Given the description of an element on the screen output the (x, y) to click on. 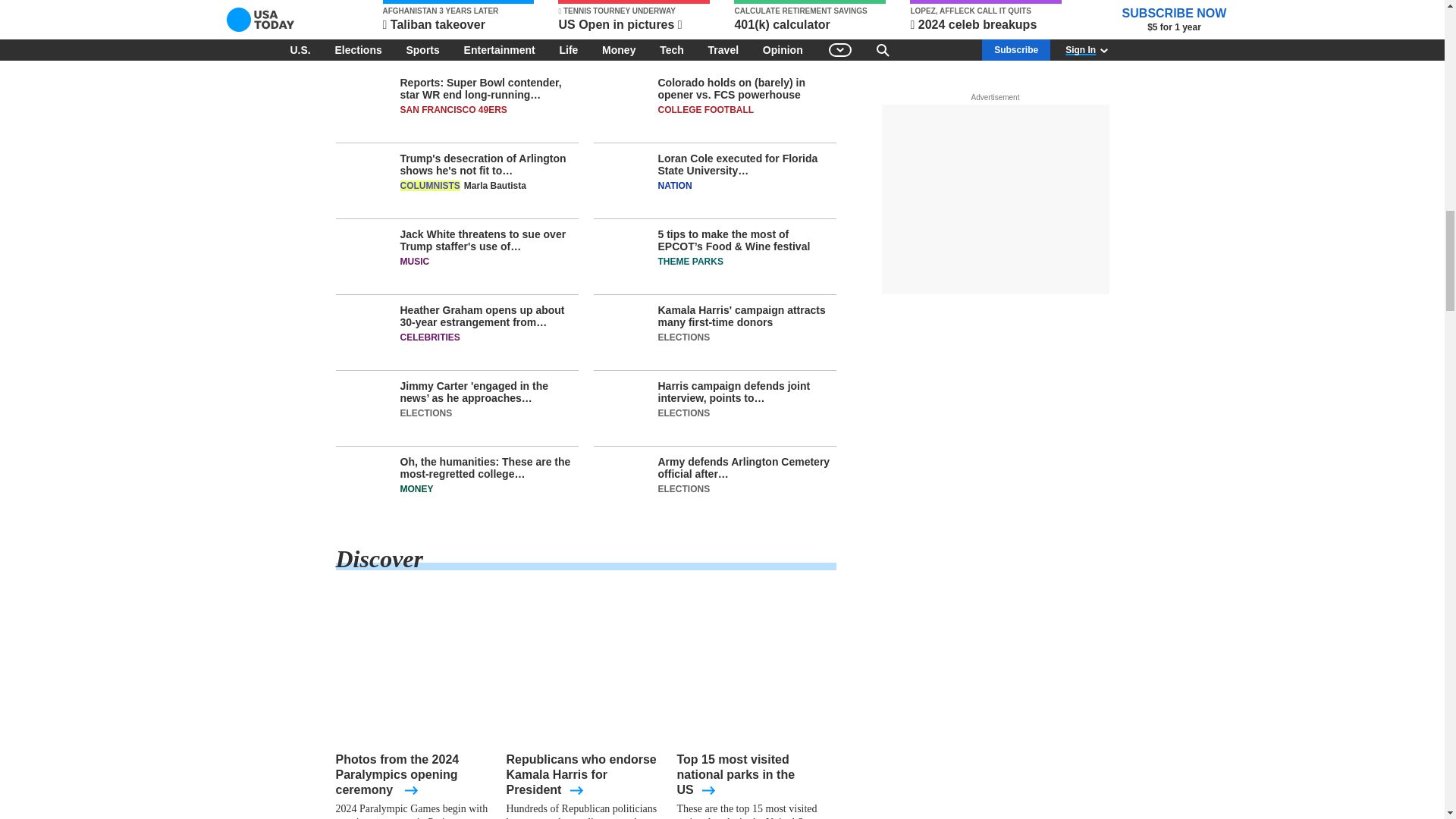
Harris campaign defends joint interview, points to precedent (713, 413)
Trump's desecration of Arlington shows he's not fit to lead (456, 185)
